Given the description of an element on the screen output the (x, y) to click on. 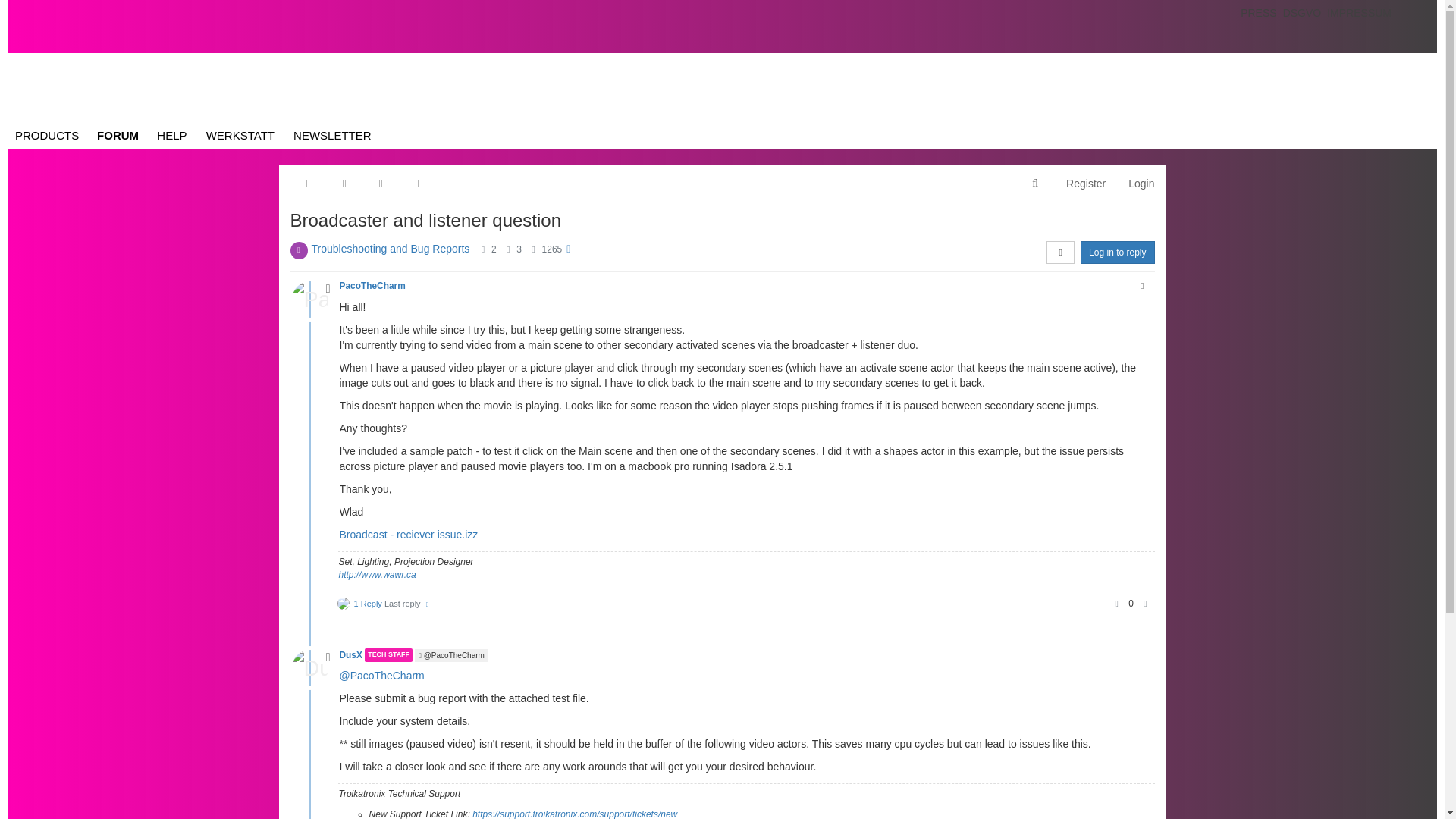
PRESS (1258, 12)
Register (1085, 183)
HELP (172, 135)
PacoTheCharm (309, 299)
Popular (380, 183)
Posts (507, 248)
IMPRESSUM (1358, 12)
Search (1034, 183)
1265 (551, 249)
Posters (482, 248)
